Given the description of an element on the screen output the (x, y) to click on. 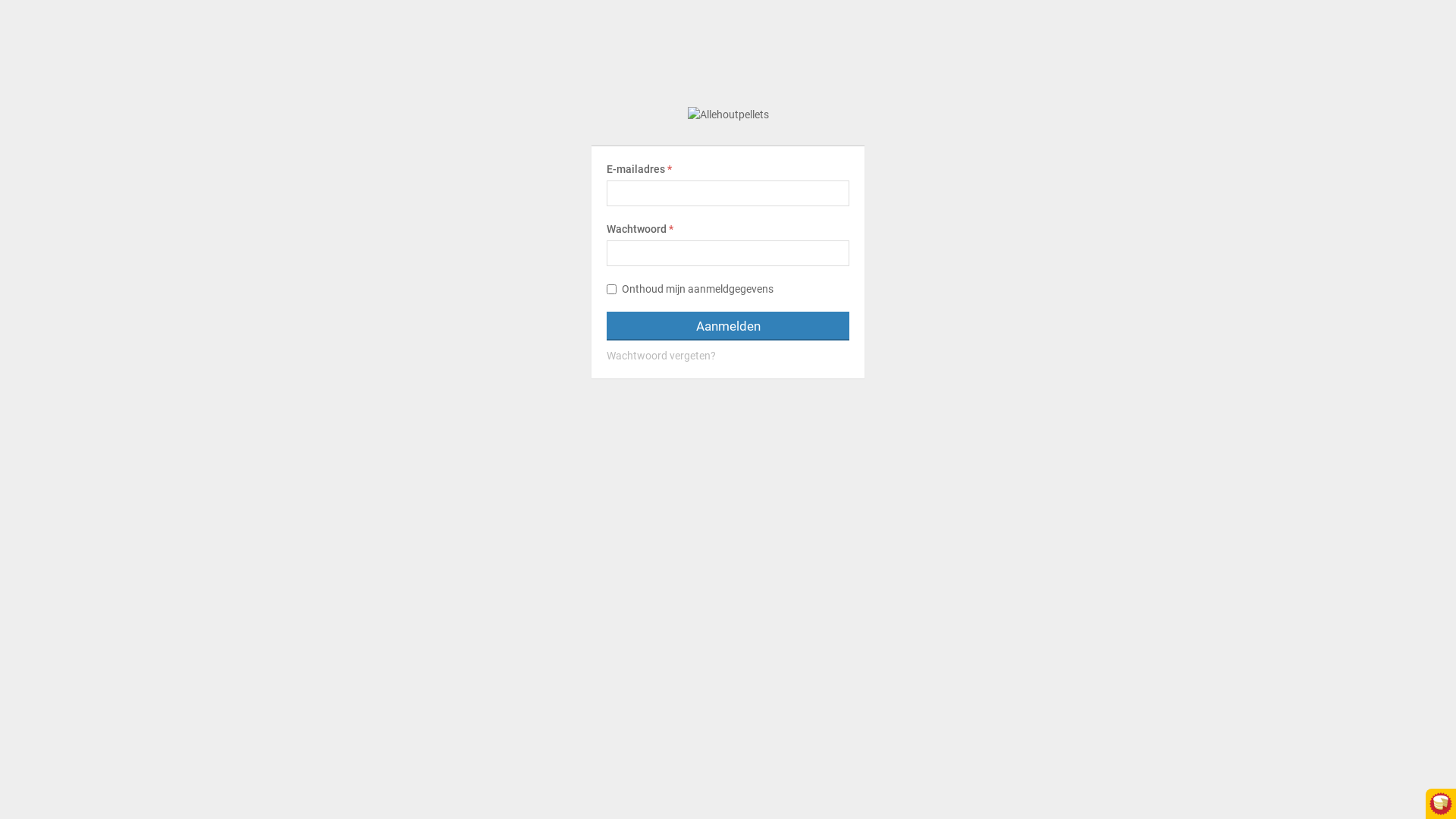
Aanmelden Element type: text (727, 325)
Wachtwoord vergeten? Element type: text (727, 355)
